Given the description of an element on the screen output the (x, y) to click on. 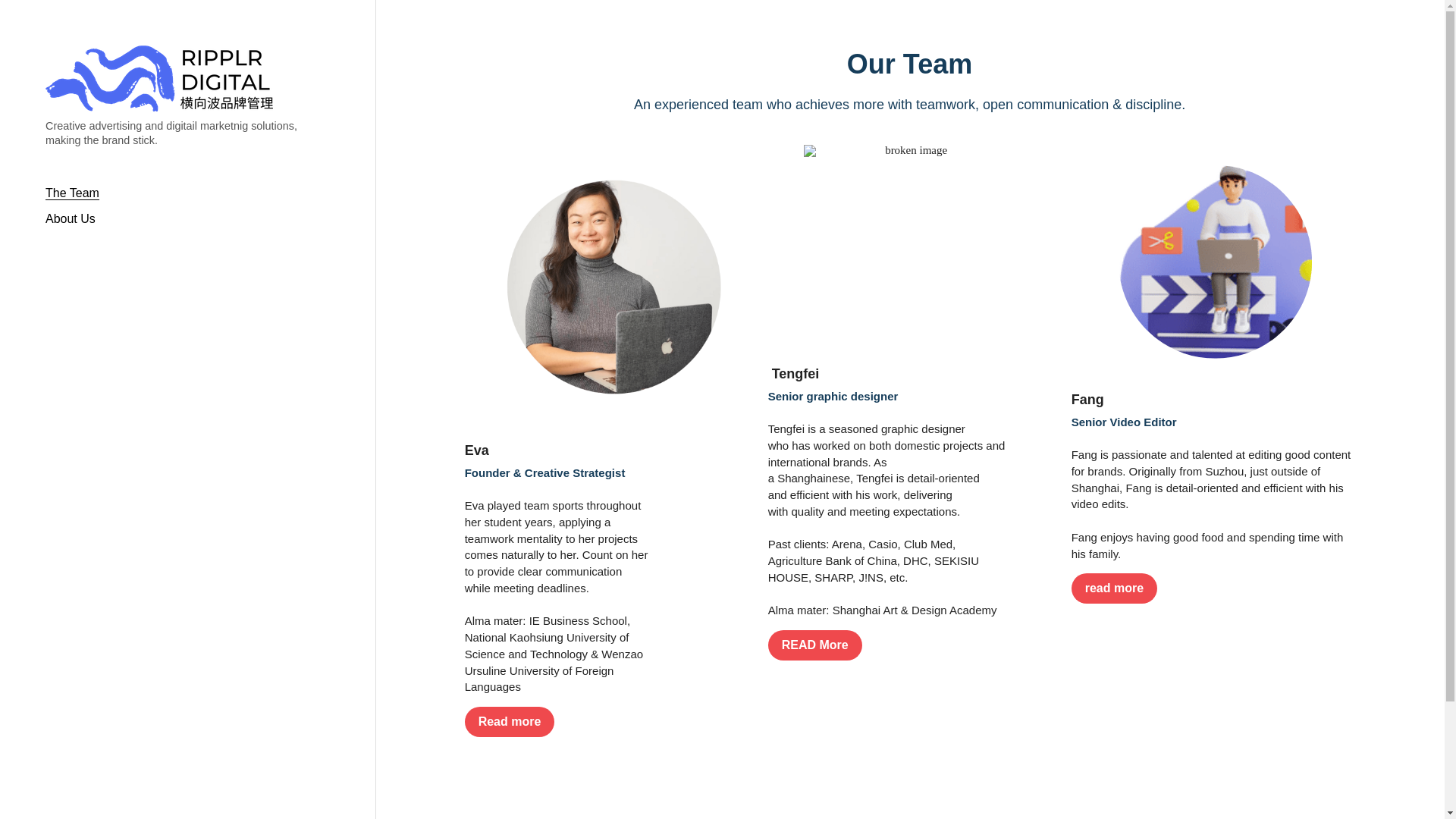
The Team Element type: text (72, 193)
About Us Element type: text (70, 218)
Read more Element type: text (509, 721)
read more Element type: text (1114, 588)
READ More Element type: text (815, 645)
